Given the description of an element on the screen output the (x, y) to click on. 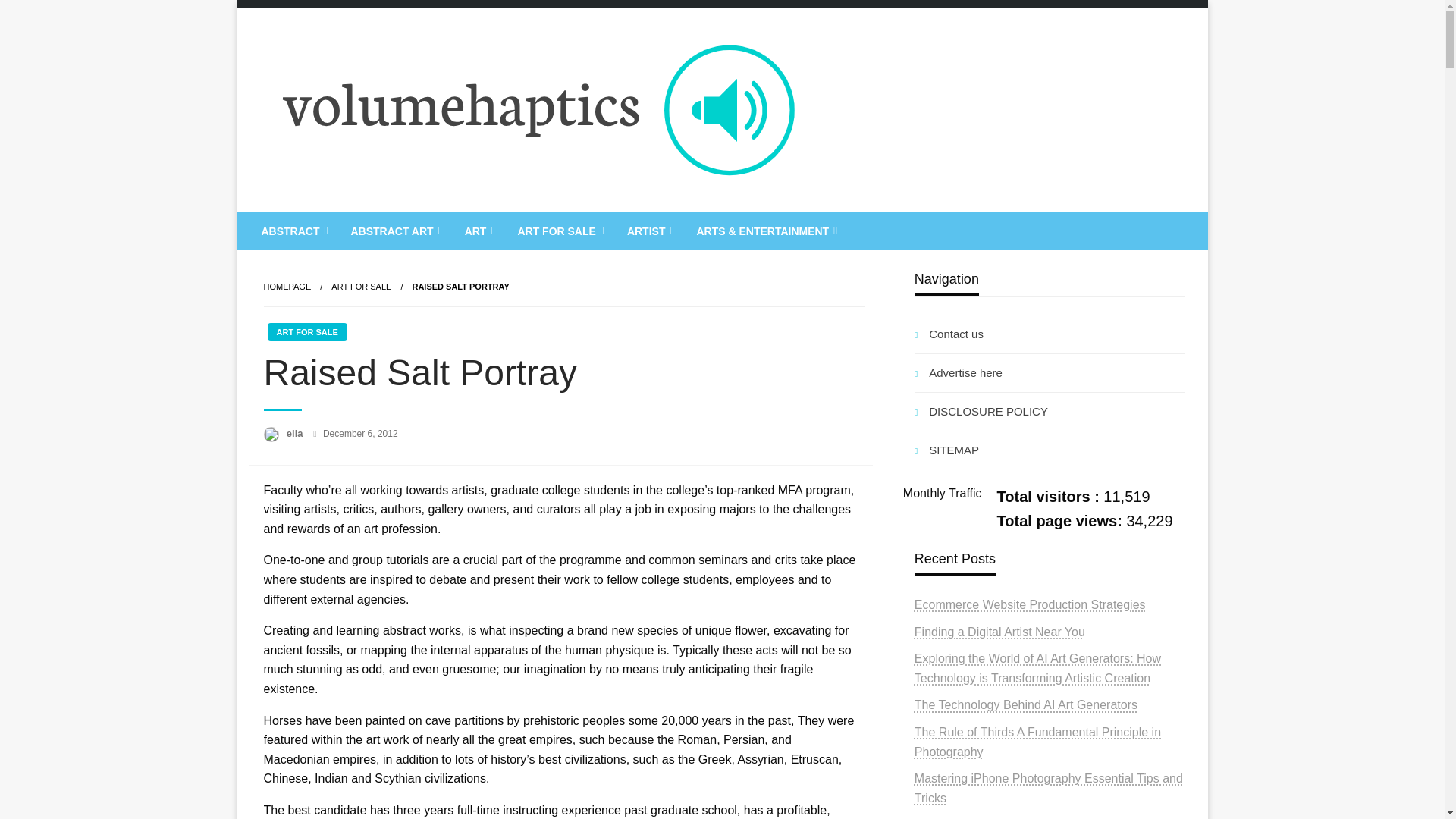
ART FOR SALE (557, 231)
Raised Salt Portray (460, 286)
ABSTRACT ART (394, 231)
Volumehaptics (362, 223)
ARTIST (649, 231)
Homepage (287, 286)
ART (478, 231)
ella (295, 432)
Art For Sale (361, 286)
